Given the description of an element on the screen output the (x, y) to click on. 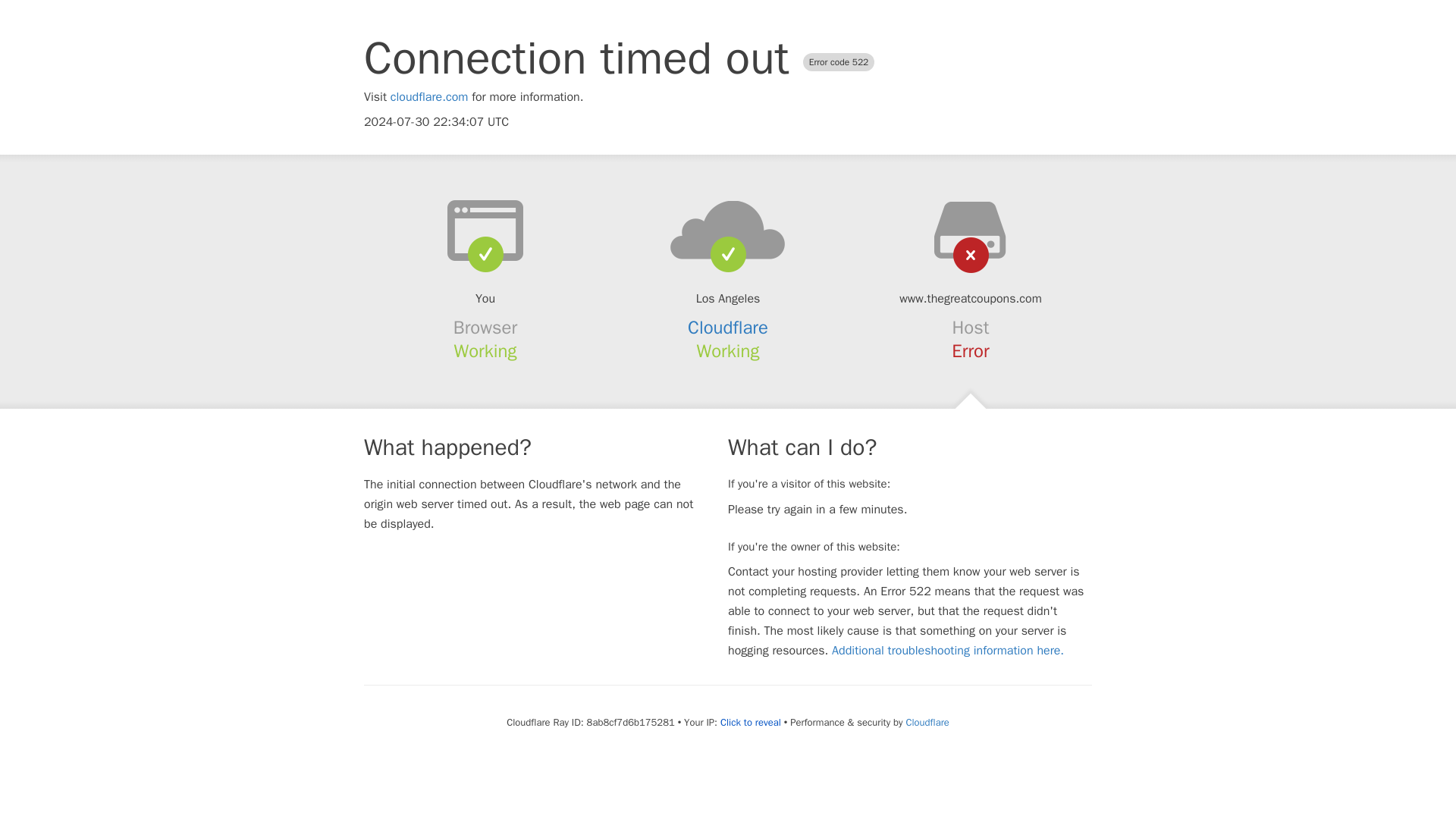
Click to reveal (750, 722)
Cloudflare (727, 327)
Cloudflare (927, 721)
cloudflare.com (429, 96)
Additional troubleshooting information here. (947, 650)
